Given the description of an element on the screen output the (x, y) to click on. 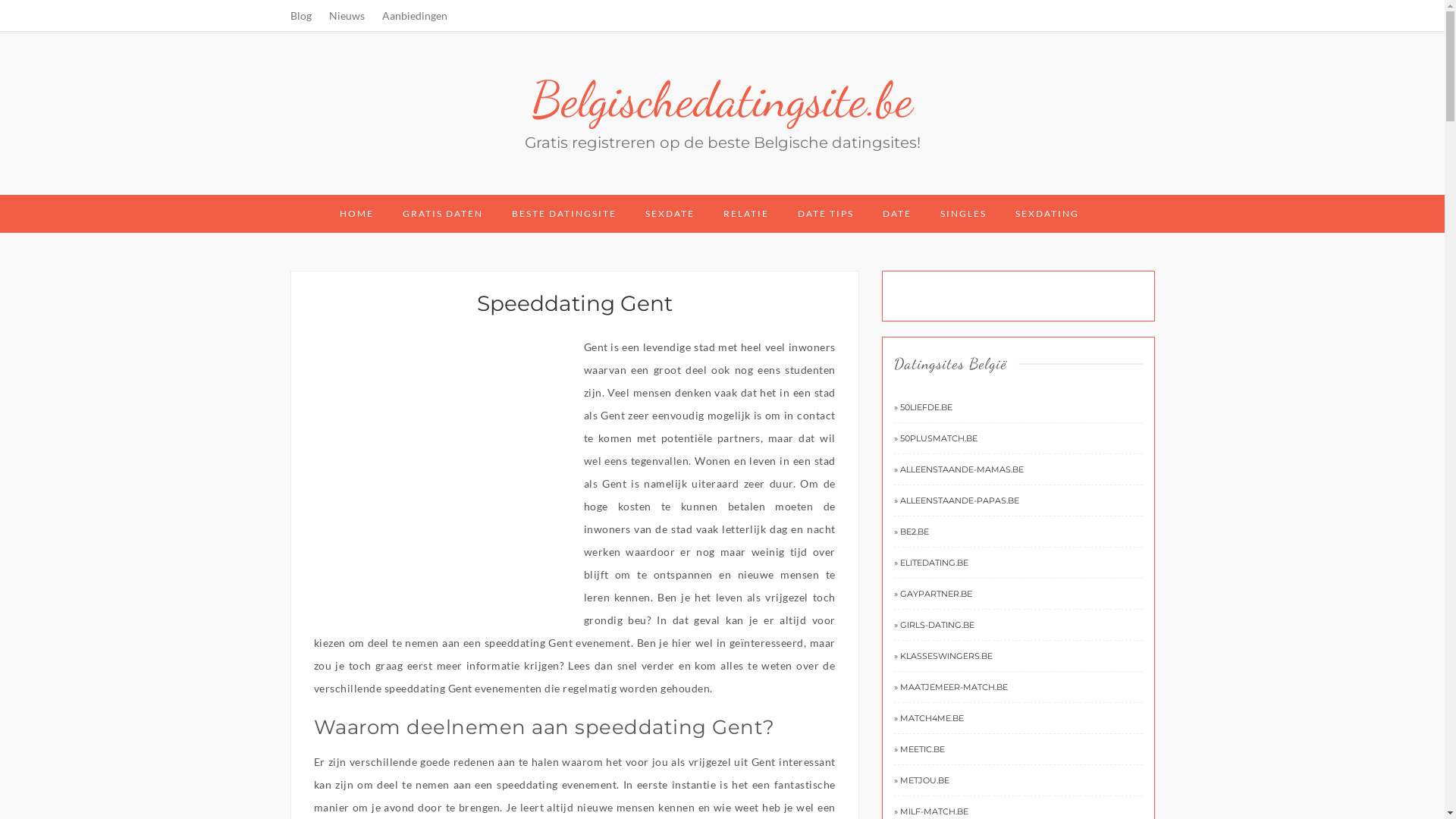
Nieuws Element type: text (346, 15)
HOME Element type: text (356, 213)
BESTE DATINGSITE Element type: text (563, 213)
RELATIE Element type: text (745, 213)
GRATIS DATEN Element type: text (441, 213)
Aanbiedingen Element type: text (414, 15)
DATE Element type: text (896, 213)
SEXDATE Element type: text (668, 213)
SINGLES Element type: text (963, 213)
SEXDATING Element type: text (1046, 213)
Blog Element type: text (299, 15)
DATE TIPS Element type: text (825, 213)
Belgischedatingsite.be Element type: text (722, 98)
